Given the description of an element on the screen output the (x, y) to click on. 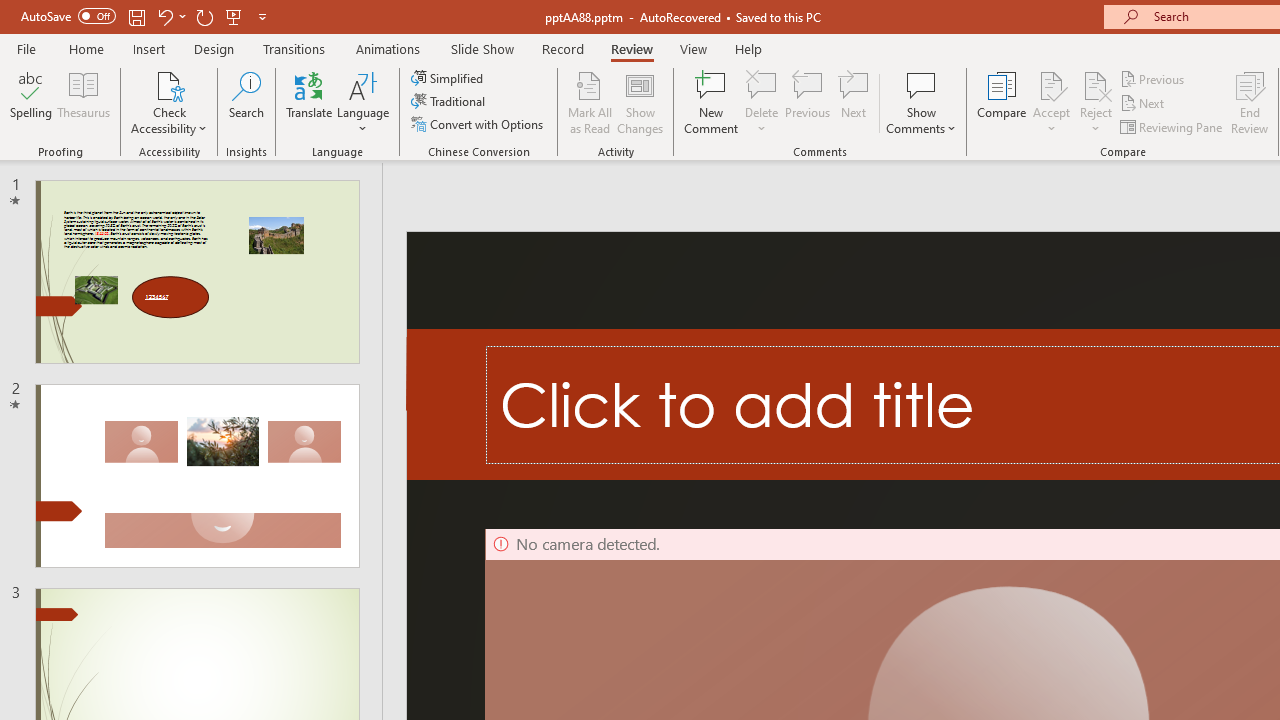
Language (363, 102)
Reviewing Pane (1172, 126)
Spelling... (31, 102)
Show Comments (921, 102)
Mark All as Read (589, 102)
Check Accessibility (169, 102)
Next (1144, 103)
Show Changes (639, 102)
